Given the description of an element on the screen output the (x, y) to click on. 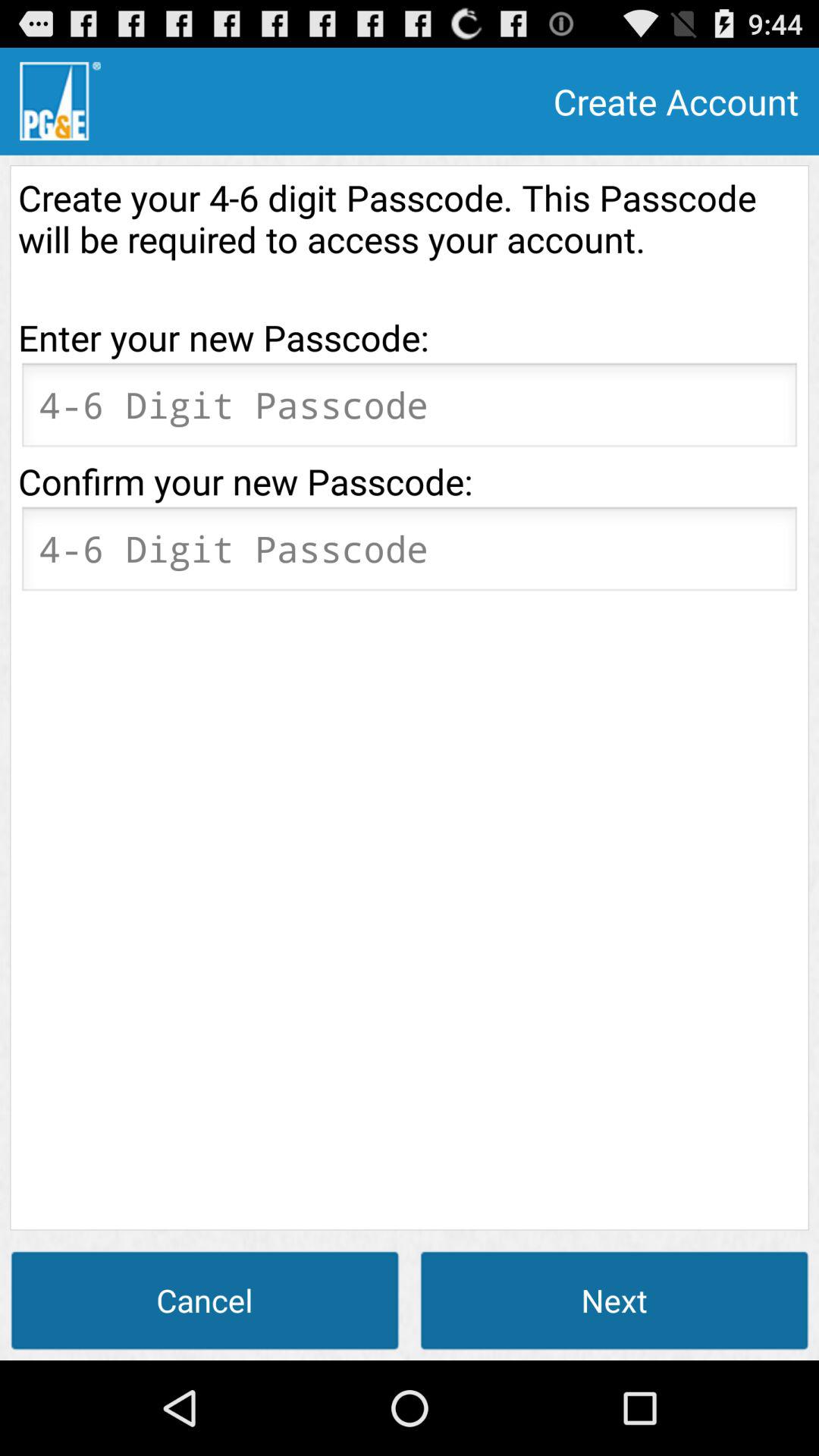
launch the button next to next (204, 1300)
